Given the description of an element on the screen output the (x, y) to click on. 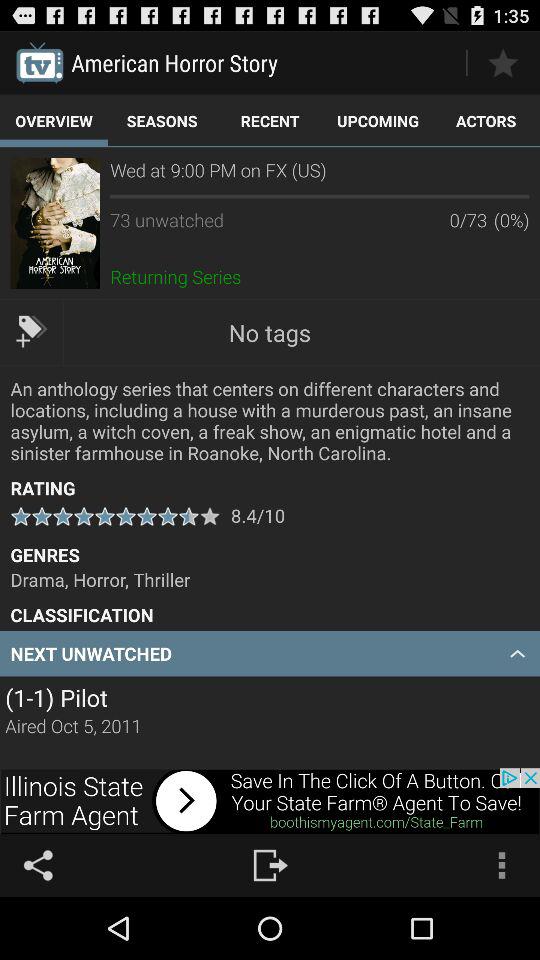
to view the show (54, 223)
